Given the description of an element on the screen output the (x, y) to click on. 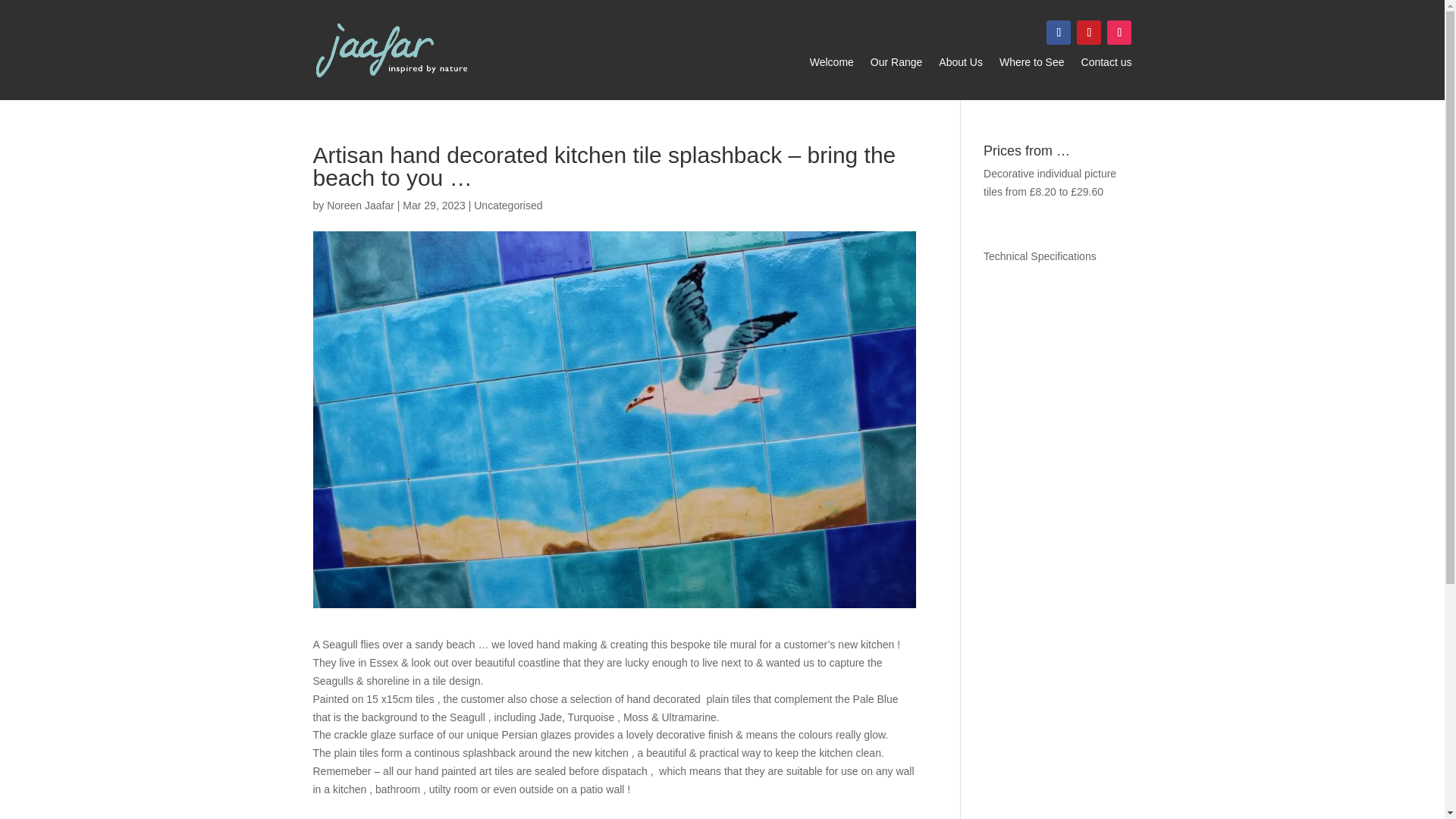
Where to See (1031, 64)
Follow on Pinterest (1088, 32)
Follow on Instagram (1118, 32)
Uncategorised (507, 205)
Noreen Jaafar (360, 205)
Technical Specifications (1040, 256)
Welcome (831, 64)
Contact us (1106, 64)
Posts by Noreen Jaafar (360, 205)
Our Range (895, 64)
Follow on Facebook (1058, 32)
About Us (960, 64)
